Given the description of an element on the screen output the (x, y) to click on. 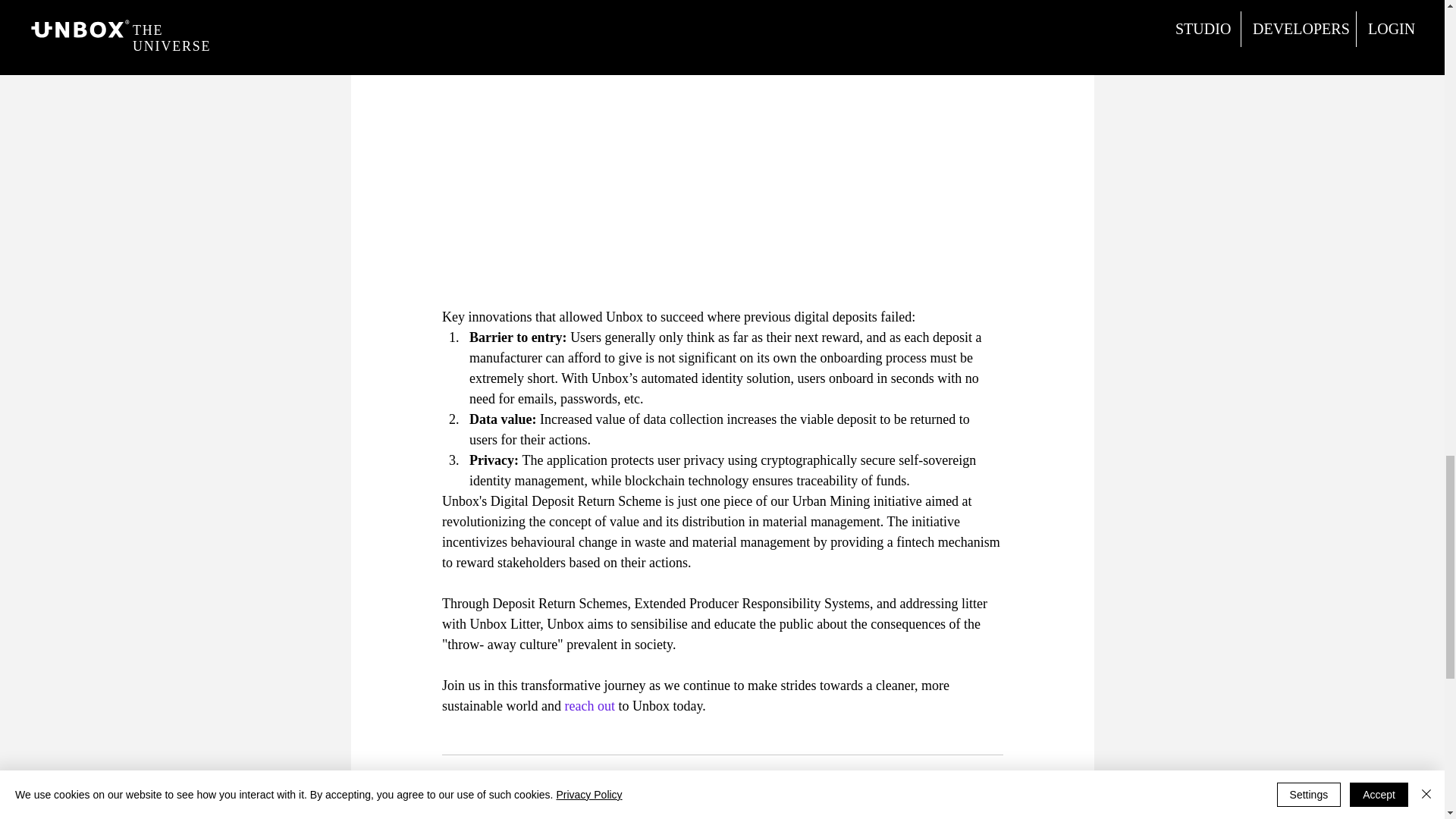
reach out (589, 704)
